Given the description of an element on the screen output the (x, y) to click on. 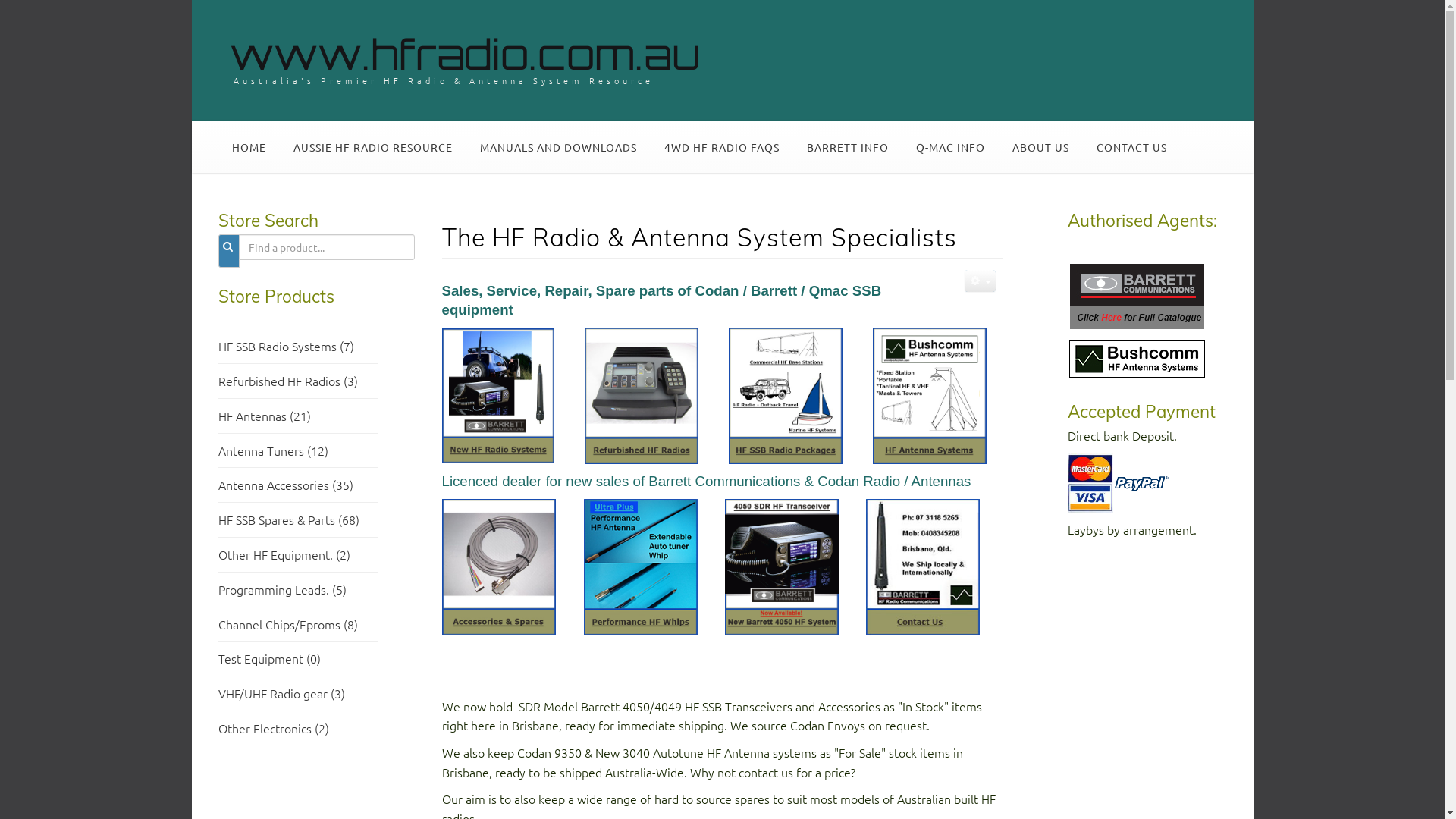
BARRETT INFO Element type: text (847, 146)
MANUALS AND DOWNLOADS Element type: text (557, 146)
Programming Leads. (5) Element type: text (282, 588)
Channel Chips/Eproms (8) Element type: text (287, 623)
www.hfradio.com.au Element type: text (464, 53)
Antenna Tuners (12) Element type: text (273, 450)
HF SSB Spares & Parts (68) Element type: text (288, 519)
Contact Us Element type: hover (922, 565)
CONTACT US Element type: text (1131, 146)
Other Electronics (2) Element type: text (273, 727)
Barrett 4050 HF Transceiver Element type: hover (781, 564)
4WD HF RADIO FAQS Element type: text (721, 146)
VHF/UHF Radio gear (3) Element type: text (281, 692)
Refurbished & Used HF Radios Element type: hover (640, 393)
Powerstick  Performance Autotuner Antenna Element type: hover (640, 565)
HF Radio Codan-Barrett- Qmac Spares & Parts Element type: hover (498, 564)
Antenna Accessories (35) Element type: text (285, 484)
HF SSB Radio Systems (7) Element type: text (286, 356)
HOME Element type: text (248, 146)
AUSSIE HF RADIO RESOURCE Element type: text (372, 146)
Bushcomm Australia HF Antenna Systems Element type: hover (928, 393)
Refurbished HF Radios (3) Element type: text (287, 380)
ABOUT US Element type: text (1039, 146)
Barrett HF Radio Information catalogue Element type: hover (1136, 293)
HF Antennas (21) Element type: text (264, 415)
Other HF Equipment. (2) Element type: text (284, 554)
New HF Radio Systems Element type: hover (497, 393)
Complete Long Range HF Radio Packages Element type: hover (784, 393)
Test Equipment (0) Element type: text (269, 657)
Q-MAC INFO Element type: text (950, 146)
